Given the description of an element on the screen output the (x, y) to click on. 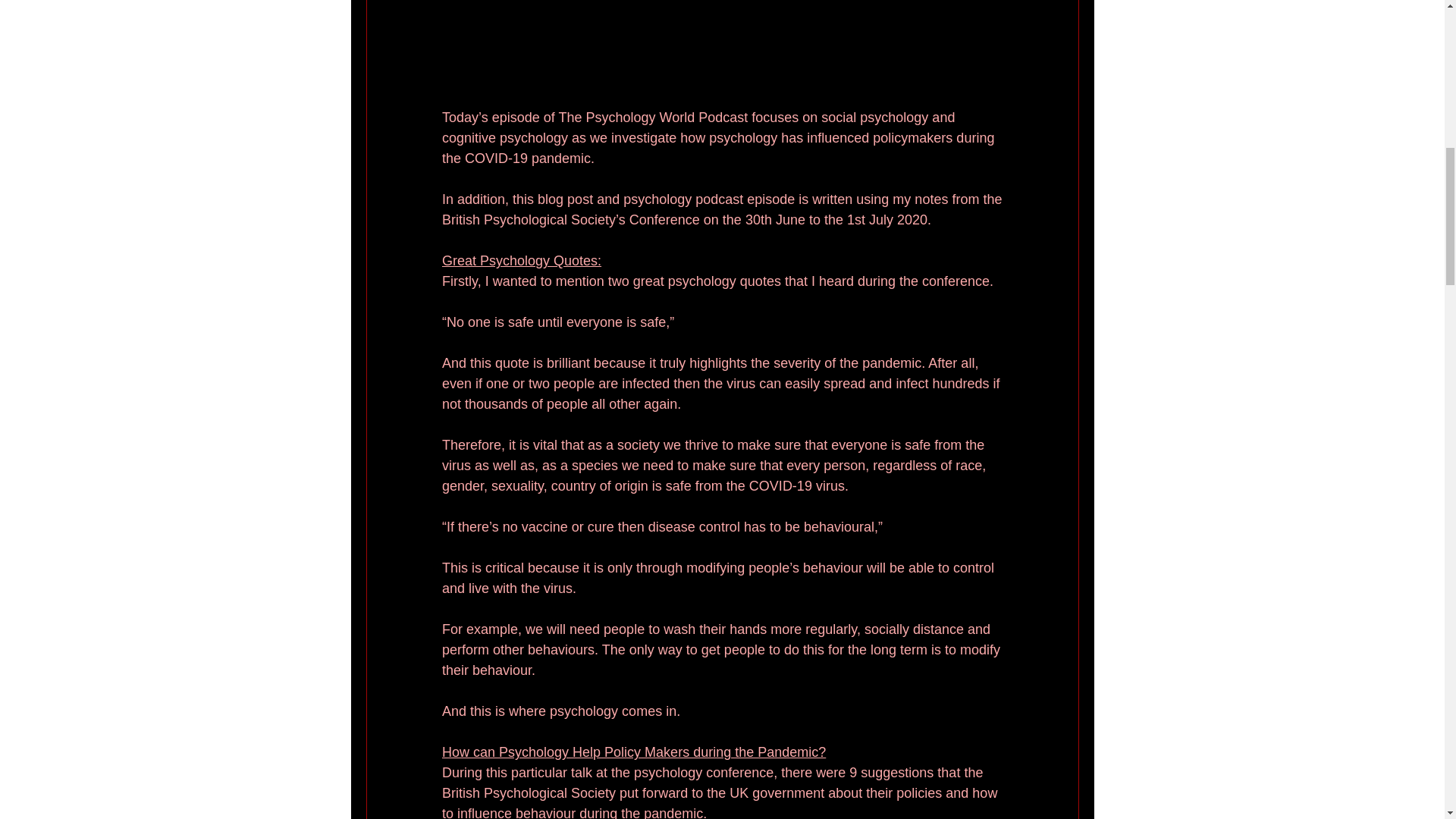
remote content (722, 66)
